Given the description of an element on the screen output the (x, y) to click on. 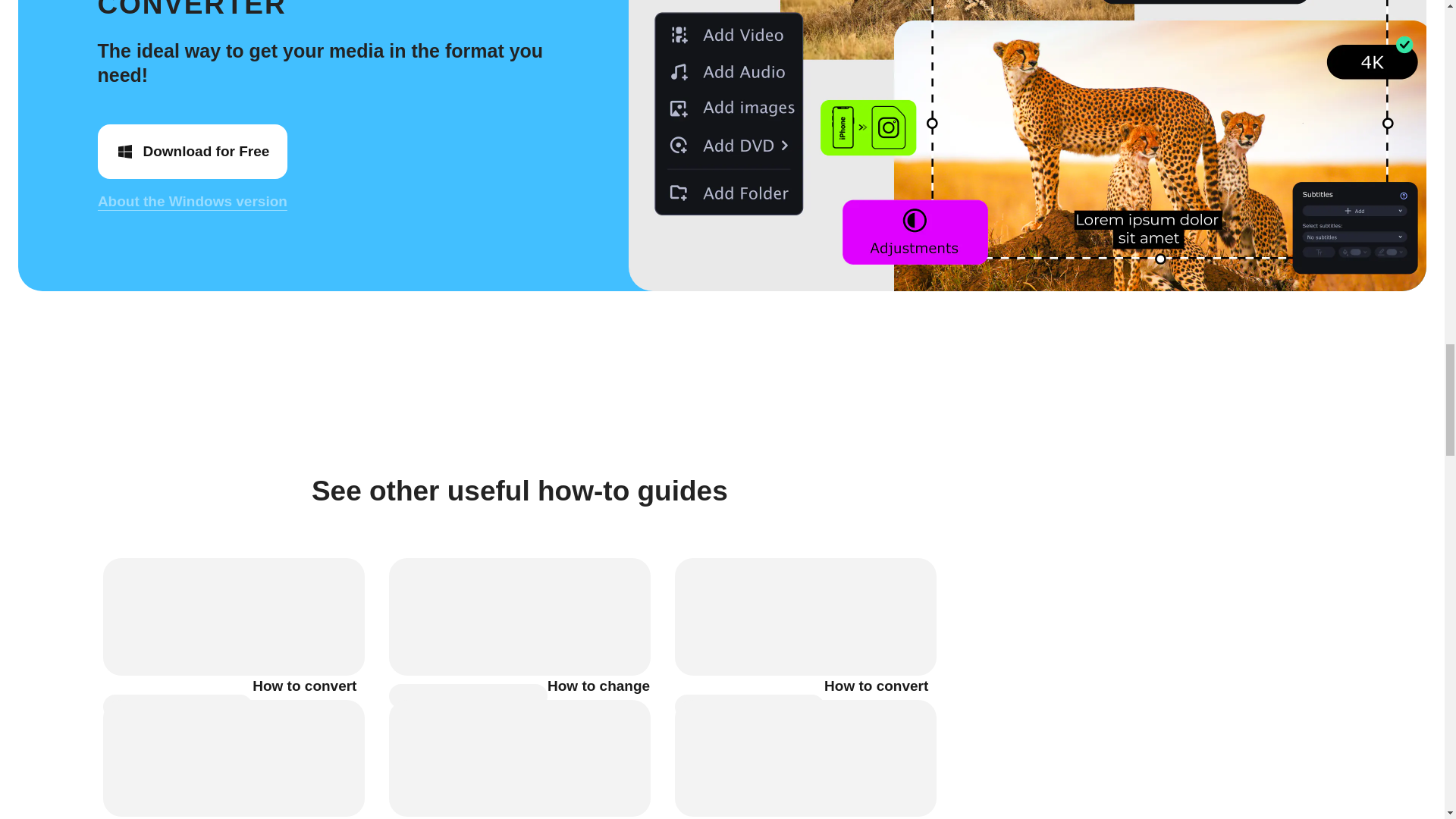
Download for Free (191, 151)
How to convert MP3 files to AAC (308, 706)
About the Windows version (191, 201)
